Given the description of an element on the screen output the (x, y) to click on. 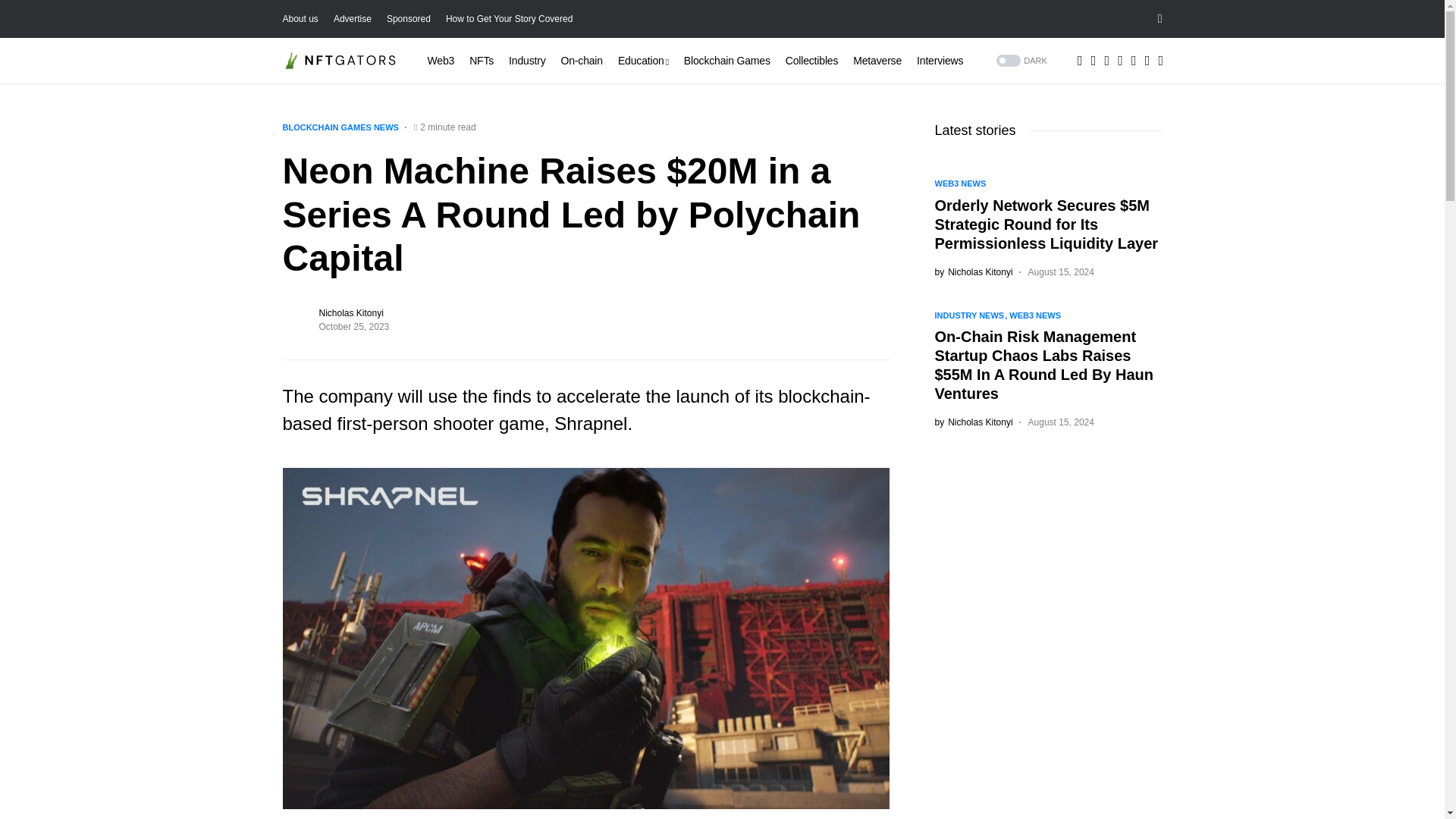
How to Get Your Story Covered (508, 18)
Sponsored (408, 18)
View all posts by Nicholas Kitonyi (972, 422)
Collectibles (812, 60)
Advertise (352, 18)
Blockchain Games (727, 60)
View all posts by Nicholas Kitonyi (972, 272)
About us (299, 18)
On-chain (581, 60)
Metaverse (877, 60)
